Given the description of an element on the screen output the (x, y) to click on. 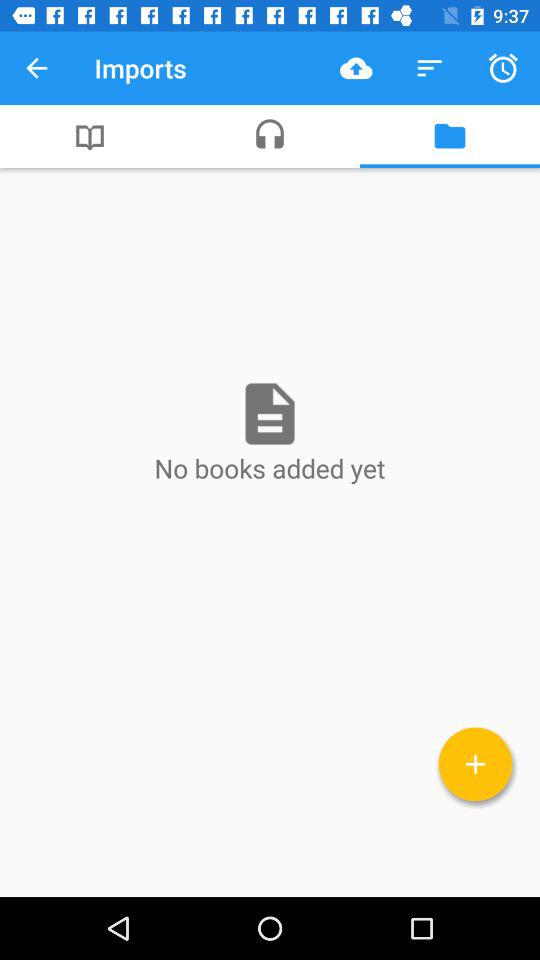
open icon next to the imports icon (356, 67)
